Given the description of an element on the screen output the (x, y) to click on. 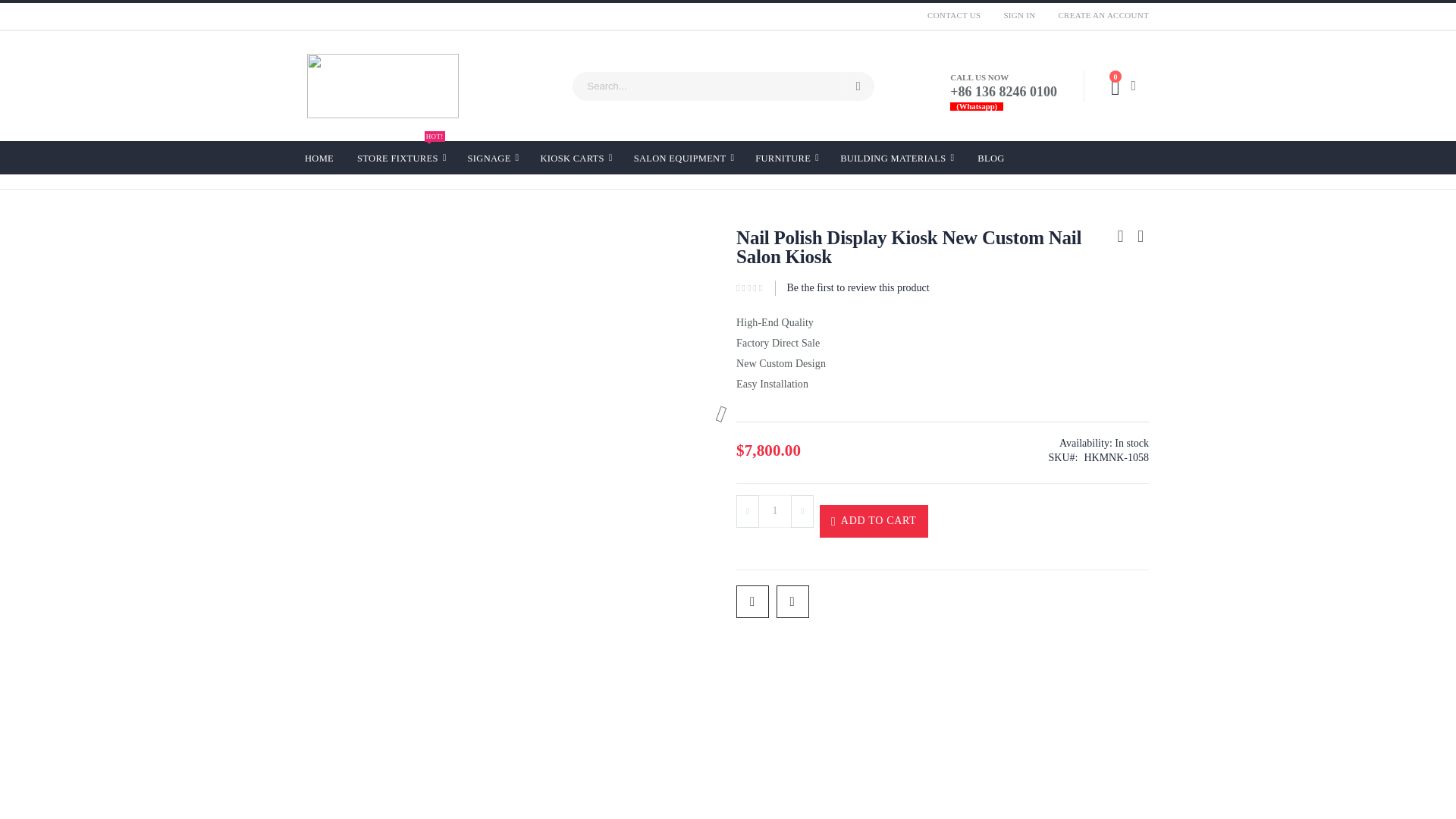
SIGN IN (400, 157)
Search (1018, 15)
Store Fixtures (857, 86)
CONTACT US (400, 157)
HOME (953, 15)
CREATE AN ACCOUNT (318, 156)
1 (1097, 15)
Search (775, 511)
